Given the description of an element on the screen output the (x, y) to click on. 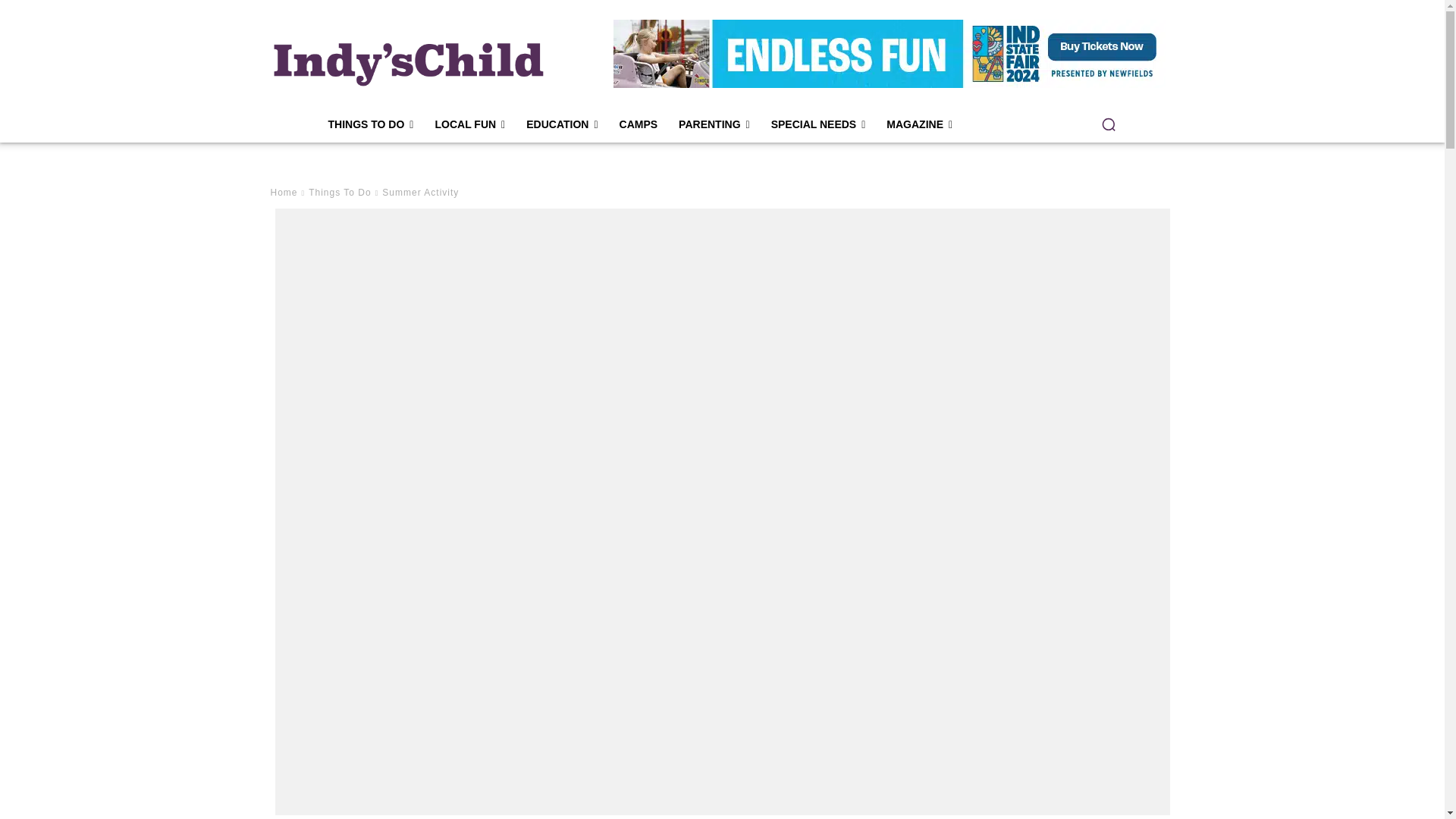
View all posts in Summer Activity (419, 192)
Indy's Child Magazine (406, 61)
View all posts in Things To Do (339, 192)
